Given the description of an element on the screen output the (x, y) to click on. 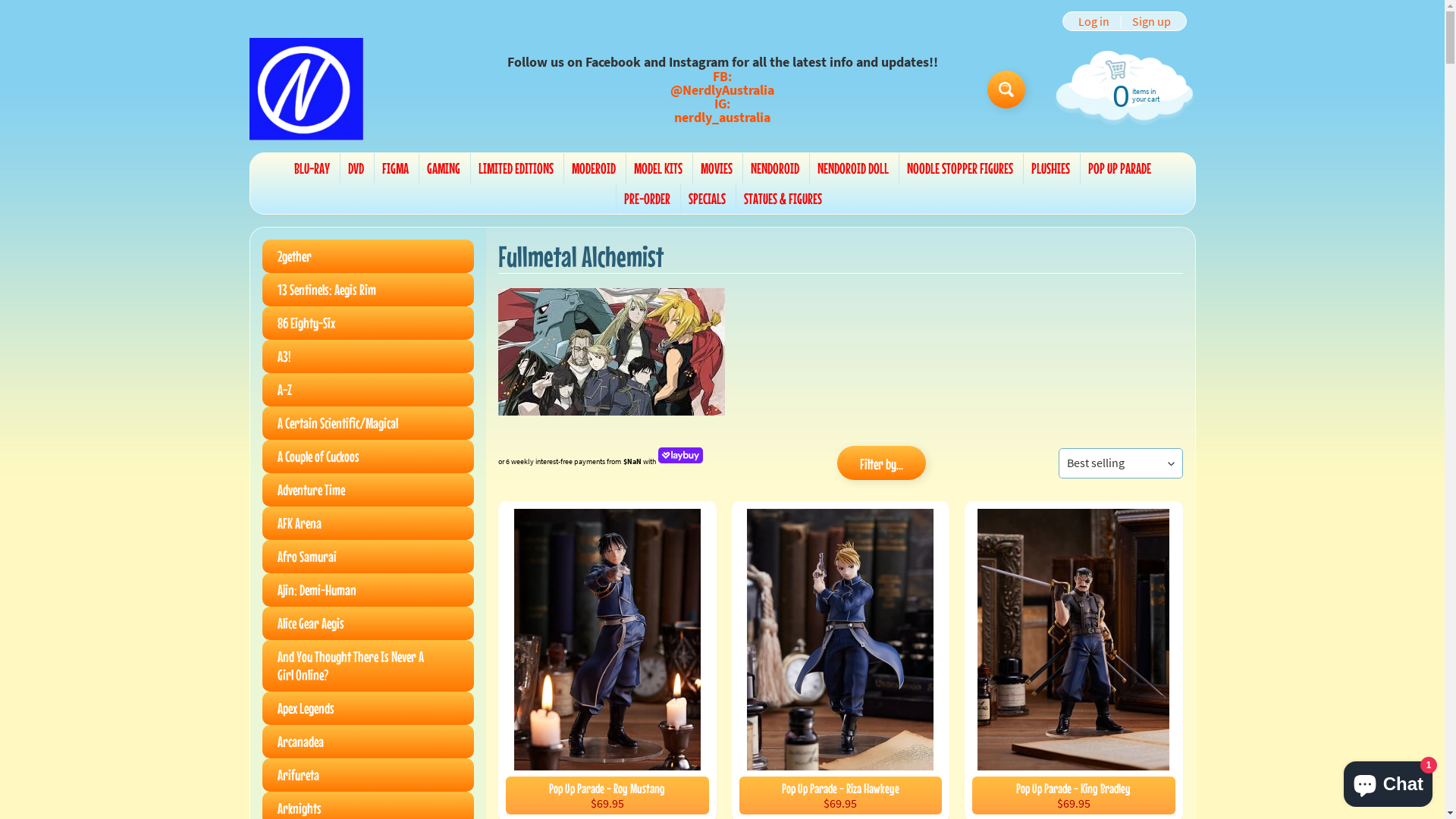
Log in Element type: text (1093, 21)
FIGMA Element type: text (395, 168)
PRE-ORDER Element type: text (646, 198)
0
items in your cart Element type: text (1122, 94)
A-Z Element type: text (368, 389)
A Couple of Cuckoos Element type: text (368, 456)
Filter by... Element type: text (881, 462)
A Certain Scientific/Magical Element type: text (368, 422)
And You Thought There Is Never A Girl Online? Element type: text (368, 665)
MOVIES Element type: text (716, 168)
Nerdly Element type: hover (305, 88)
Adventure Time Element type: text (368, 489)
AFK Arena Element type: text (368, 522)
GAMING Element type: text (442, 168)
Alice Gear Aegis Element type: text (368, 623)
A3! Element type: text (368, 356)
13 Sentinels: Aegis Rim Element type: text (368, 289)
Ajin: Demi-Human Element type: text (368, 589)
NOODLE STOPPER FIGURES Element type: text (959, 168)
Arcanadea Element type: text (368, 741)
STATUES & FIGURES Element type: text (781, 198)
IG: nerdly_australia Element type: text (722, 110)
BLU-RAY Element type: text (311, 168)
NENDOROID DOLL Element type: text (852, 168)
DVD Element type: text (354, 168)
PLUSHIES Element type: text (1050, 168)
MODEROID Element type: text (593, 168)
SPECIALS Element type: text (706, 198)
NENDOROID Element type: text (774, 168)
Search Element type: text (1006, 88)
LIMITED EDITIONS Element type: text (515, 168)
Shopify online store chat Element type: hover (1388, 780)
Arifureta Element type: text (368, 774)
MODEL KITS Element type: text (658, 168)
POP UP PARADE Element type: text (1118, 168)
Afro Samurai Element type: text (368, 556)
FB: @NerdlyAustralia Element type: text (722, 83)
Sign up Element type: text (1150, 21)
86 Eighty-Six Element type: text (368, 322)
Apex Legends Element type: text (368, 707)
2gether Element type: text (368, 256)
